Given the description of an element on the screen output the (x, y) to click on. 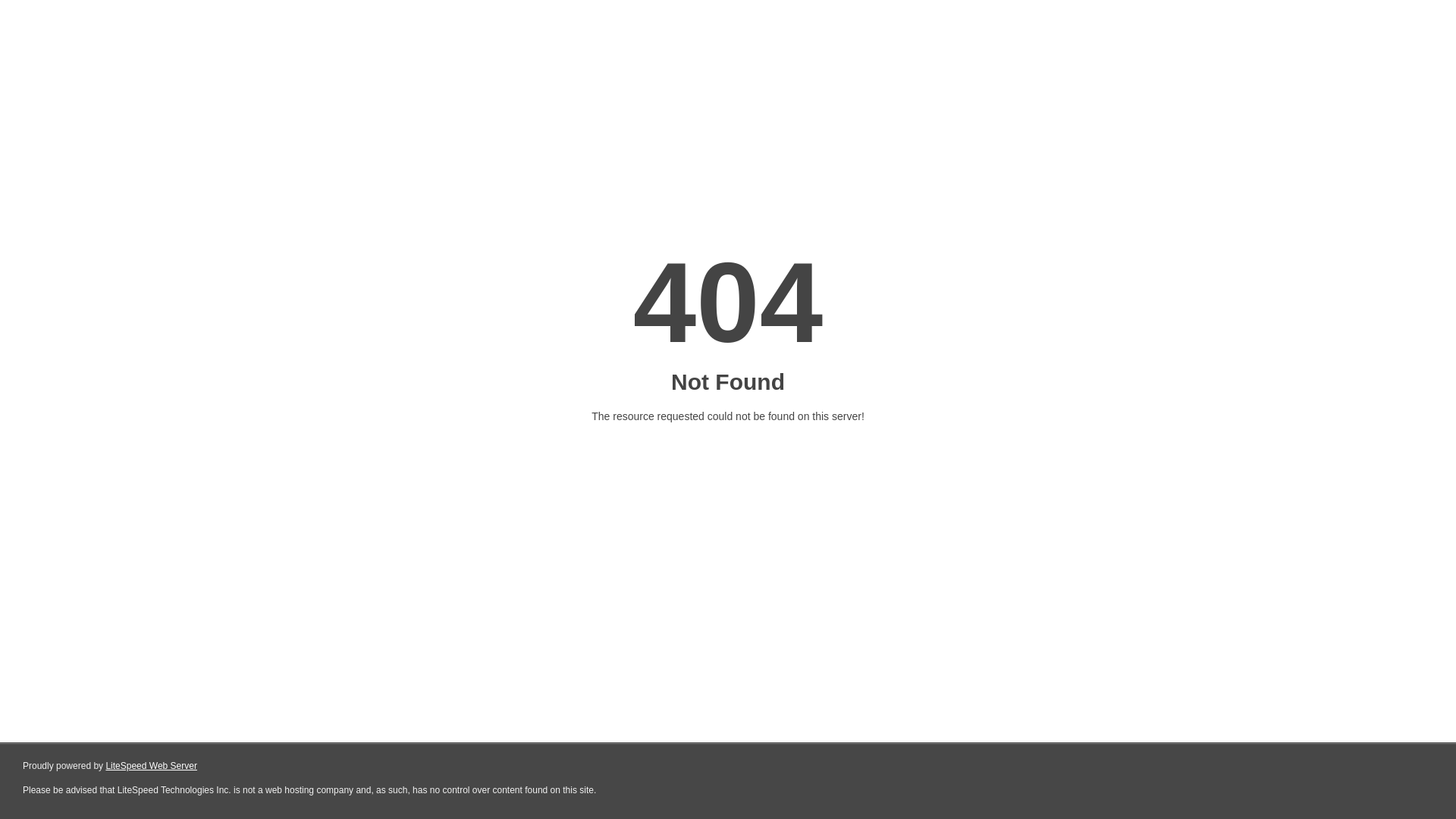
LiteSpeed Web Server Element type: text (151, 765)
